Given the description of an element on the screen output the (x, y) to click on. 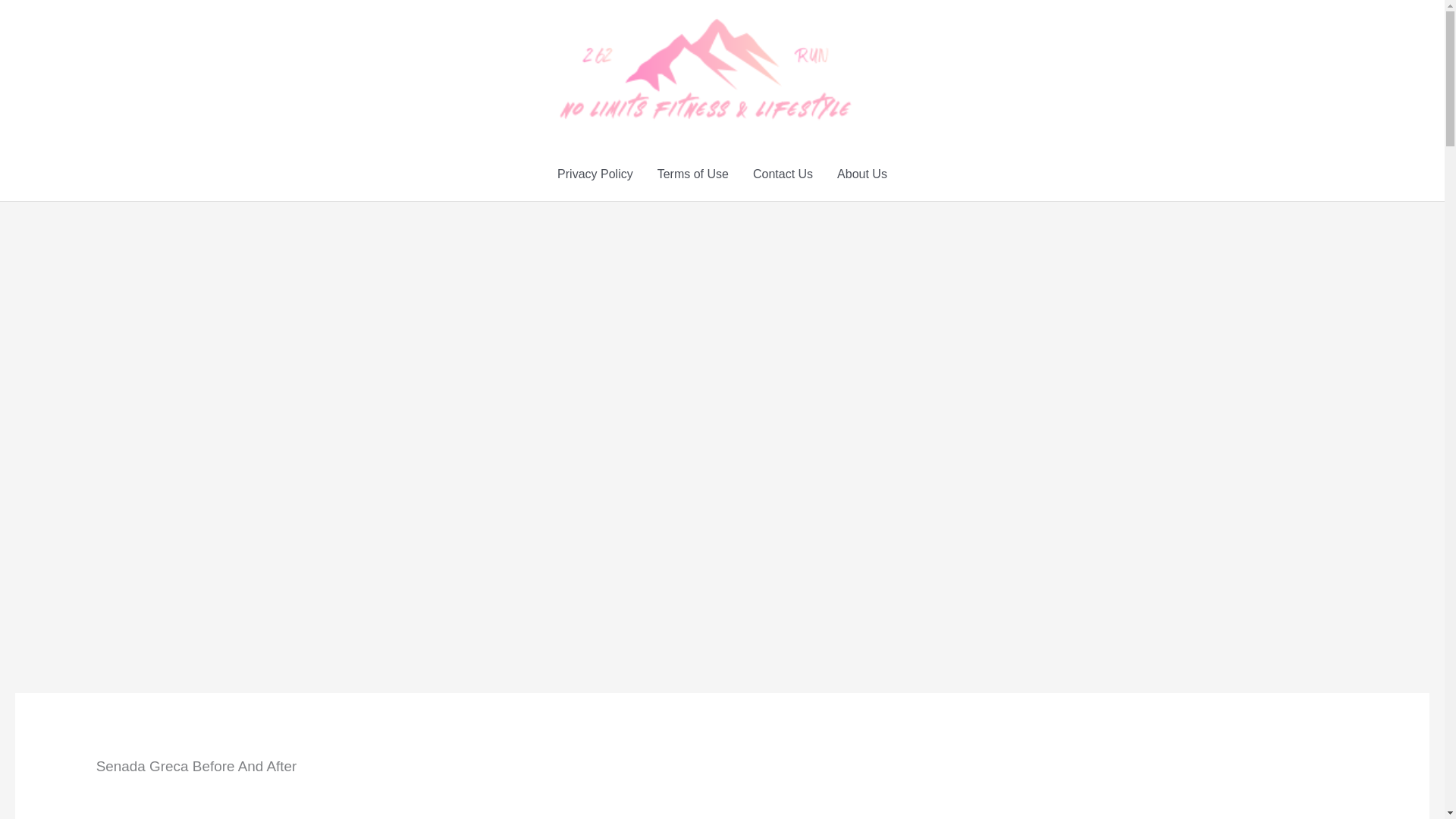
262 Run (876, 68)
Privacy Policy (594, 174)
About Us (862, 174)
Terms of Use (693, 174)
Contact Us (783, 174)
